Given the description of an element on the screen output the (x, y) to click on. 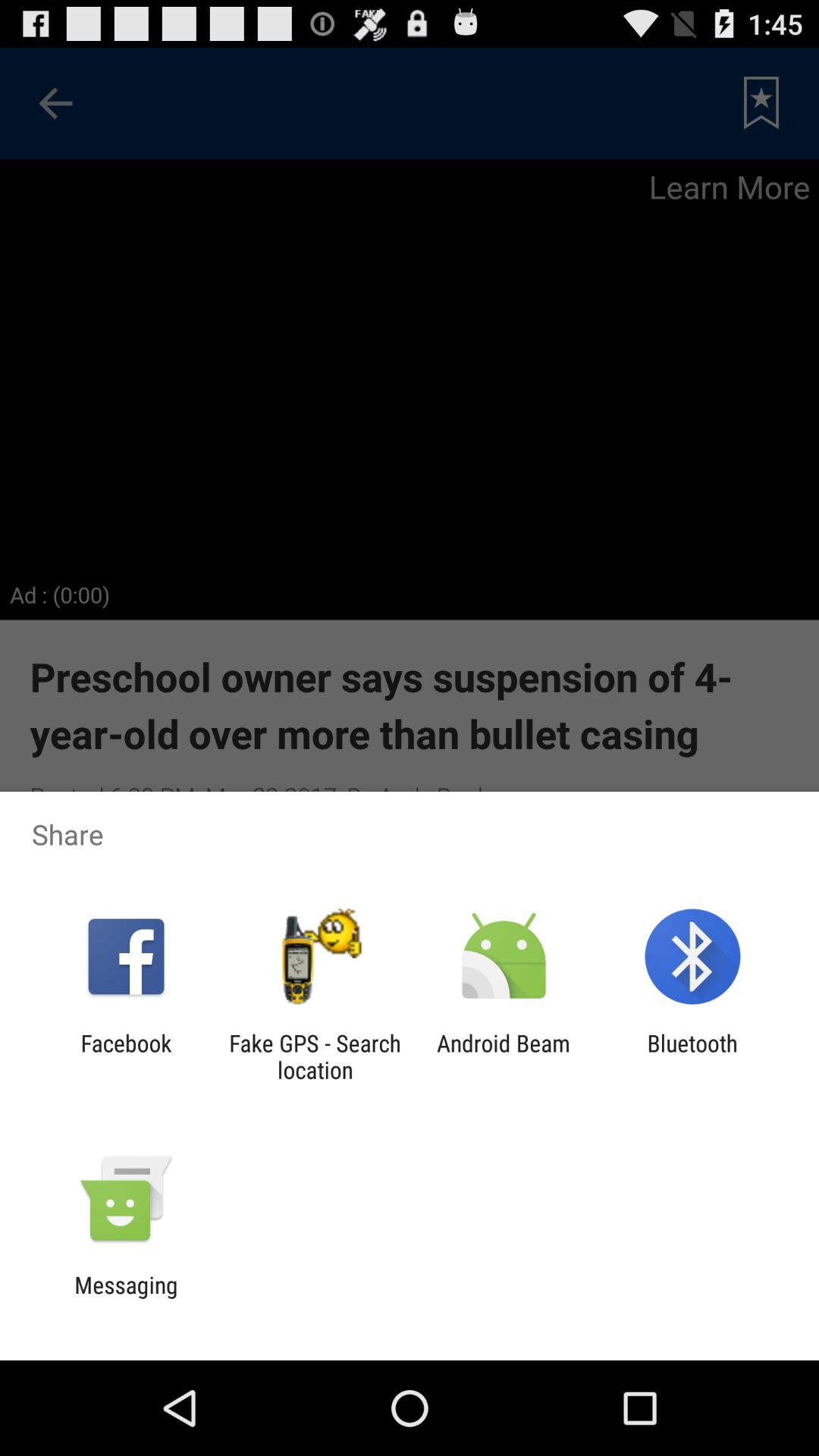
flip to facebook icon (125, 1056)
